Given the description of an element on the screen output the (x, y) to click on. 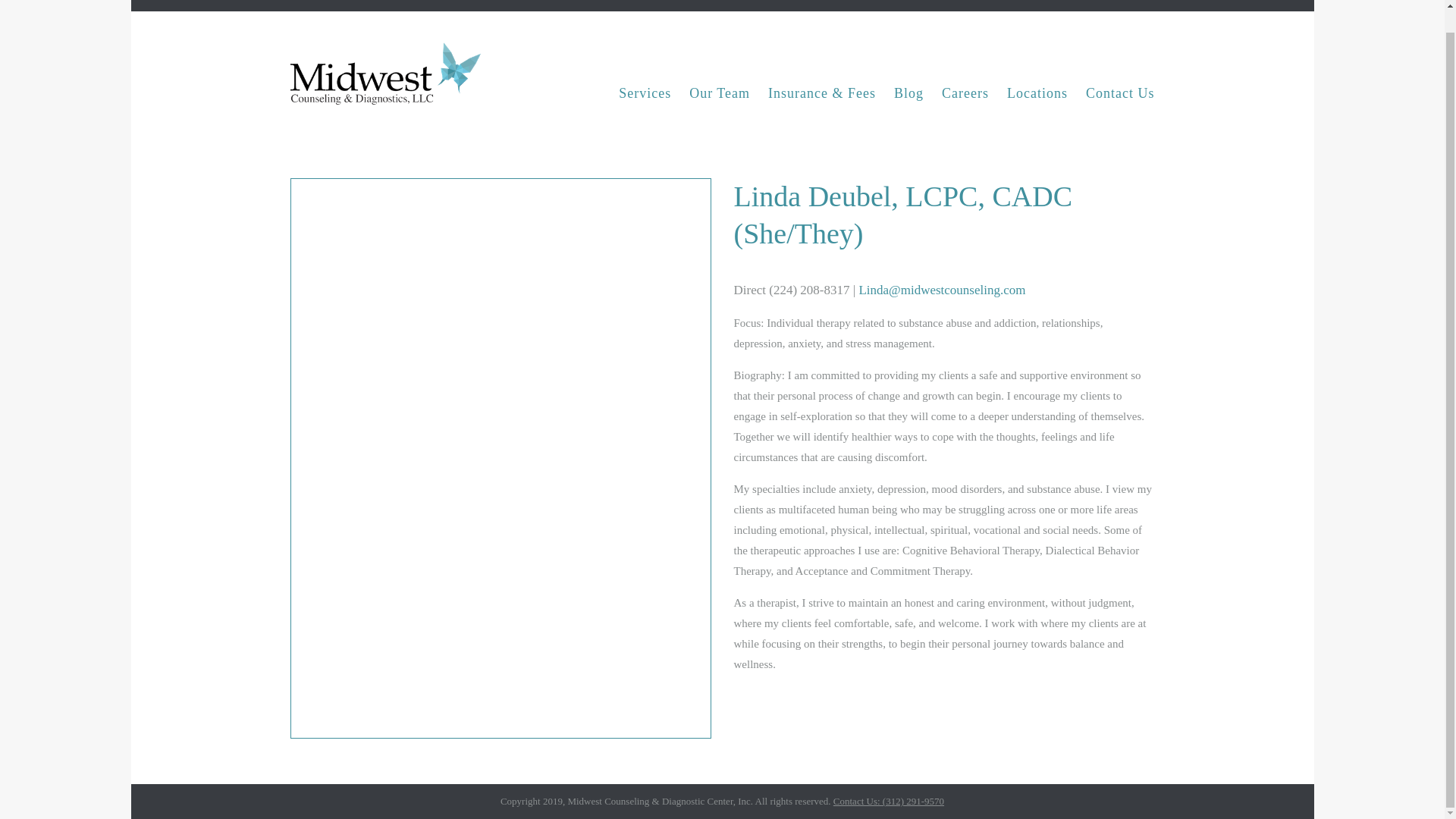
Services (644, 93)
Careers (965, 93)
Blog (908, 93)
Our Team (718, 93)
Contact Us (1120, 93)
Locations (1037, 93)
